Given the description of an element on the screen output the (x, y) to click on. 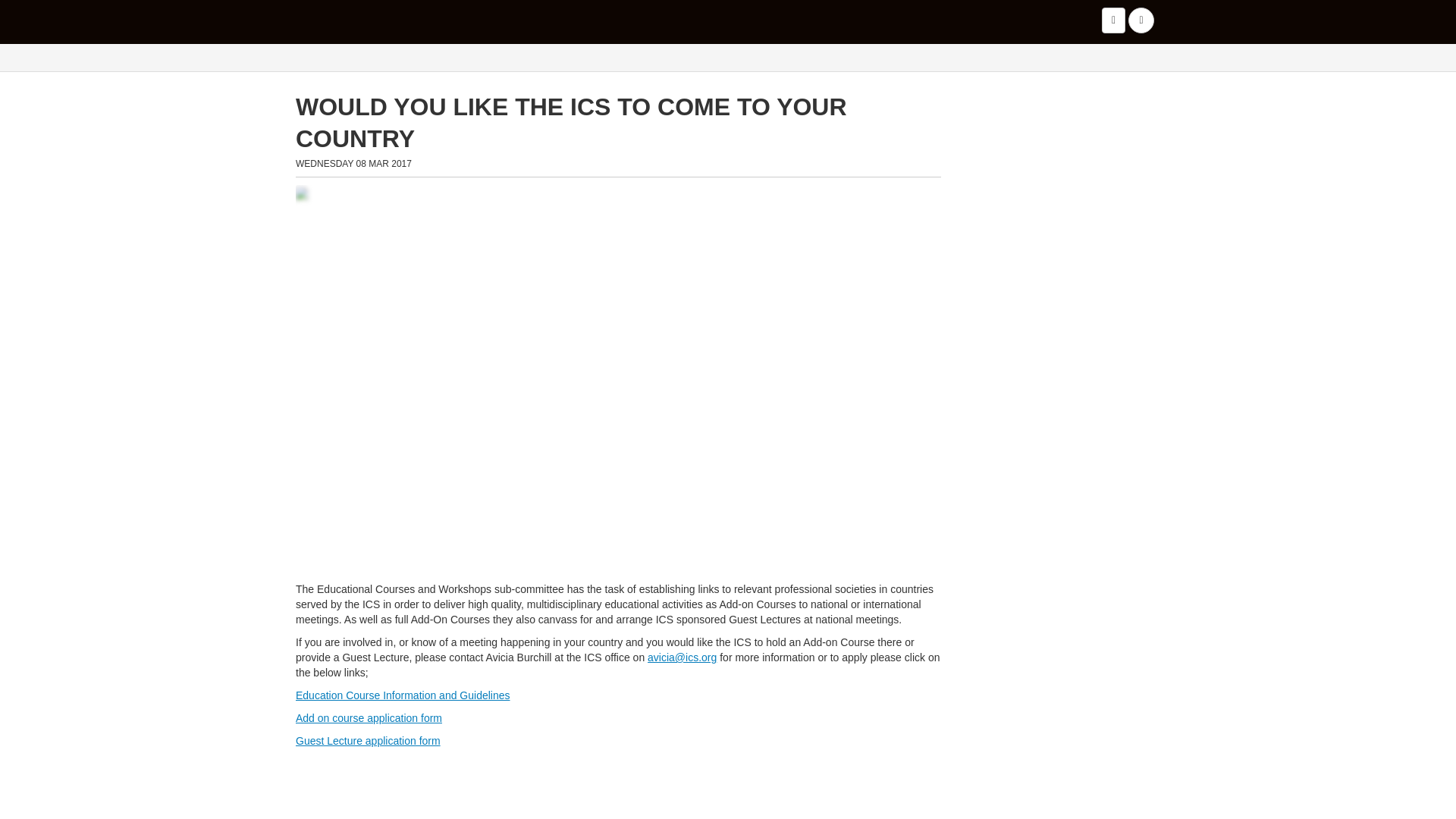
Add on course application form (368, 717)
Guest Lecture application form (368, 740)
Education Course Information and Guidelines (403, 695)
